Given the description of an element on the screen output the (x, y) to click on. 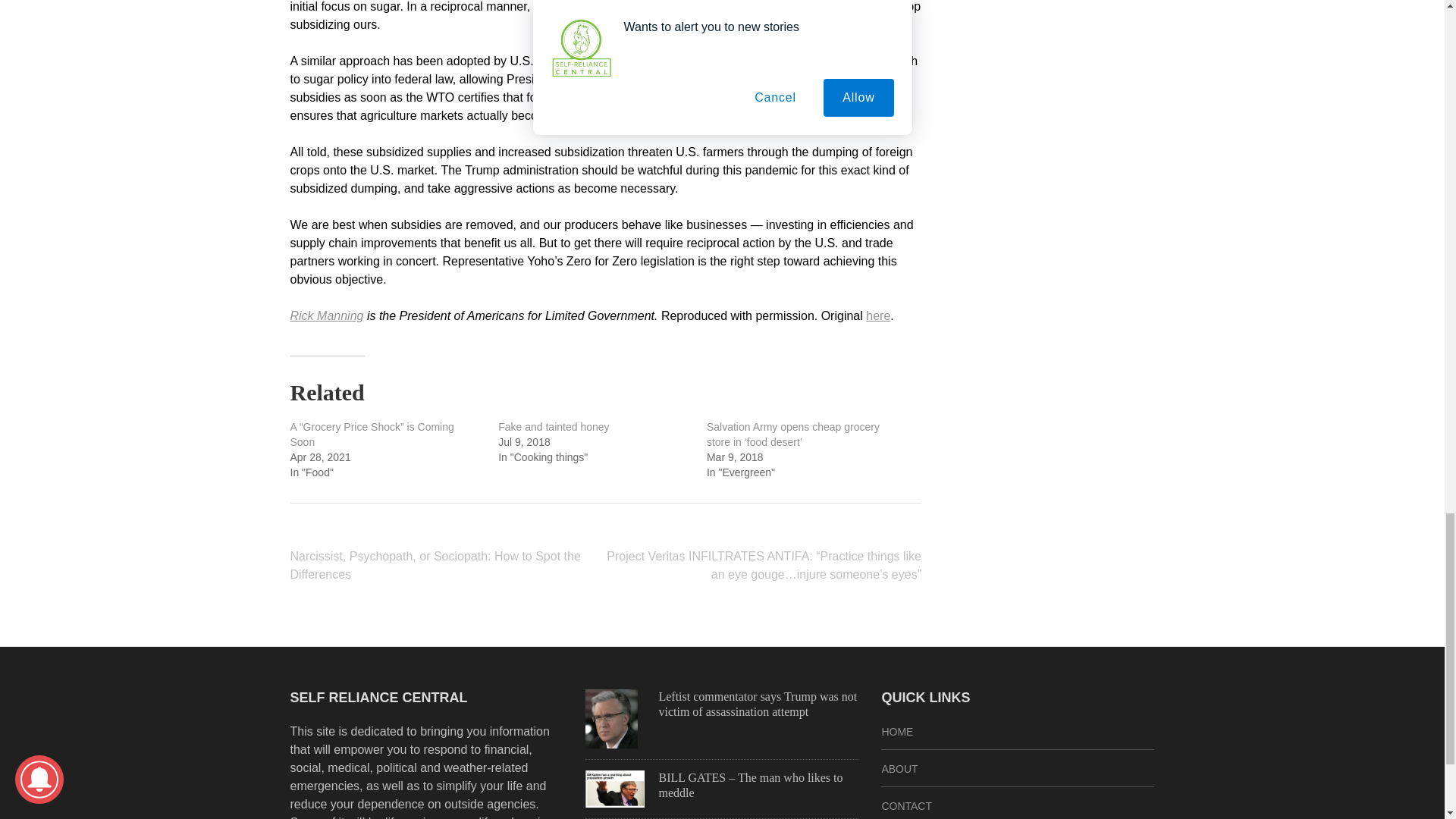
Fake and tainted honey (552, 426)
